Given the description of an element on the screen output the (x, y) to click on. 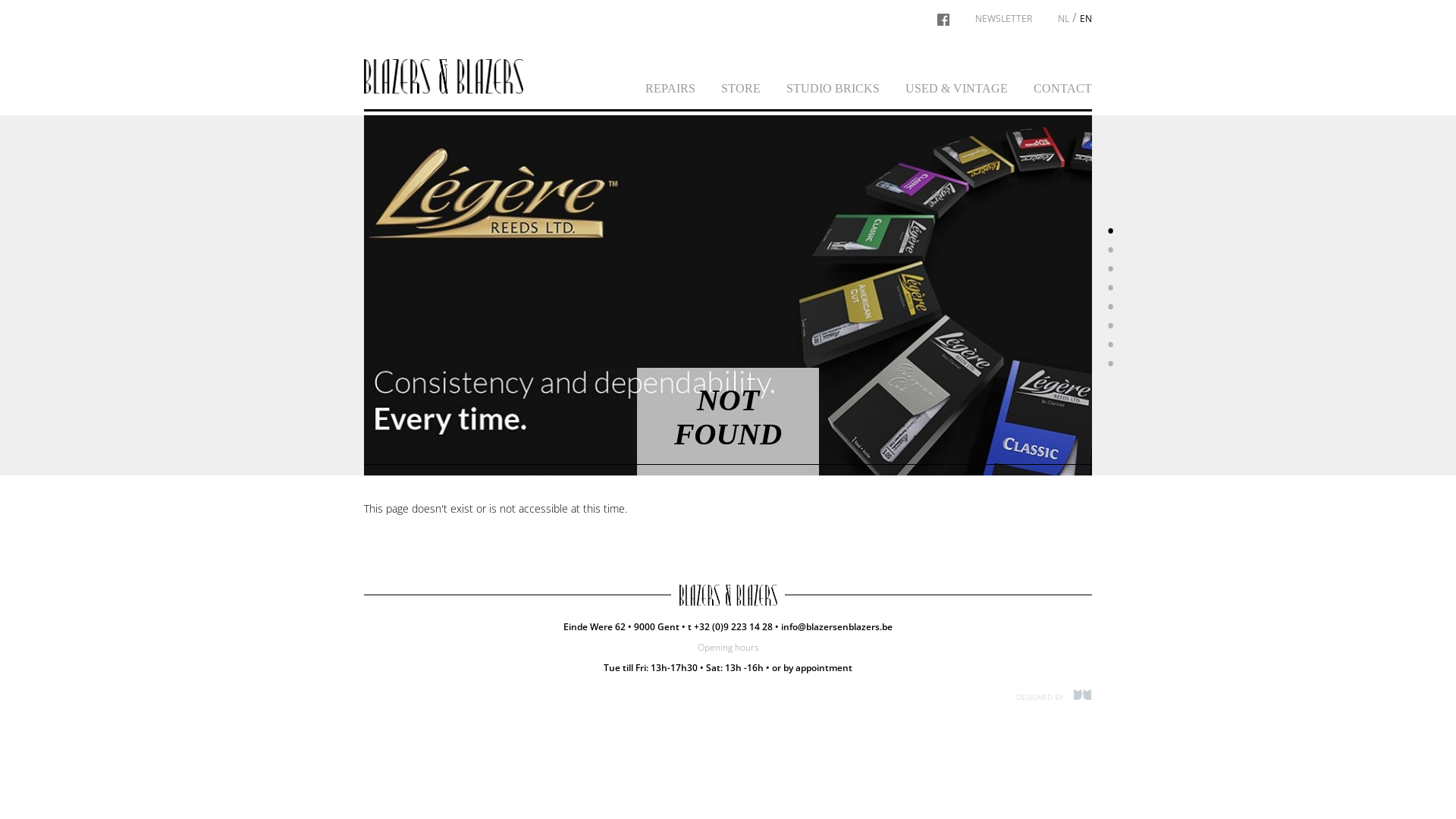
EN Element type: text (1085, 18)
Miss Moss Element type: hover (1078, 695)
info@blazersenblazers.be Element type: text (836, 626)
CONTACT Element type: text (1062, 88)
STUDIO BRICKS Element type: text (832, 88)
REPAIRS Element type: text (670, 88)
NL Element type: text (1063, 18)
USED & VINTAGE Element type: text (956, 88)
Blazers & Blazers Element type: text (443, 76)
STORE Element type: text (740, 88)
NEWSLETTER Element type: text (1003, 18)
